Given the description of an element on the screen output the (x, y) to click on. 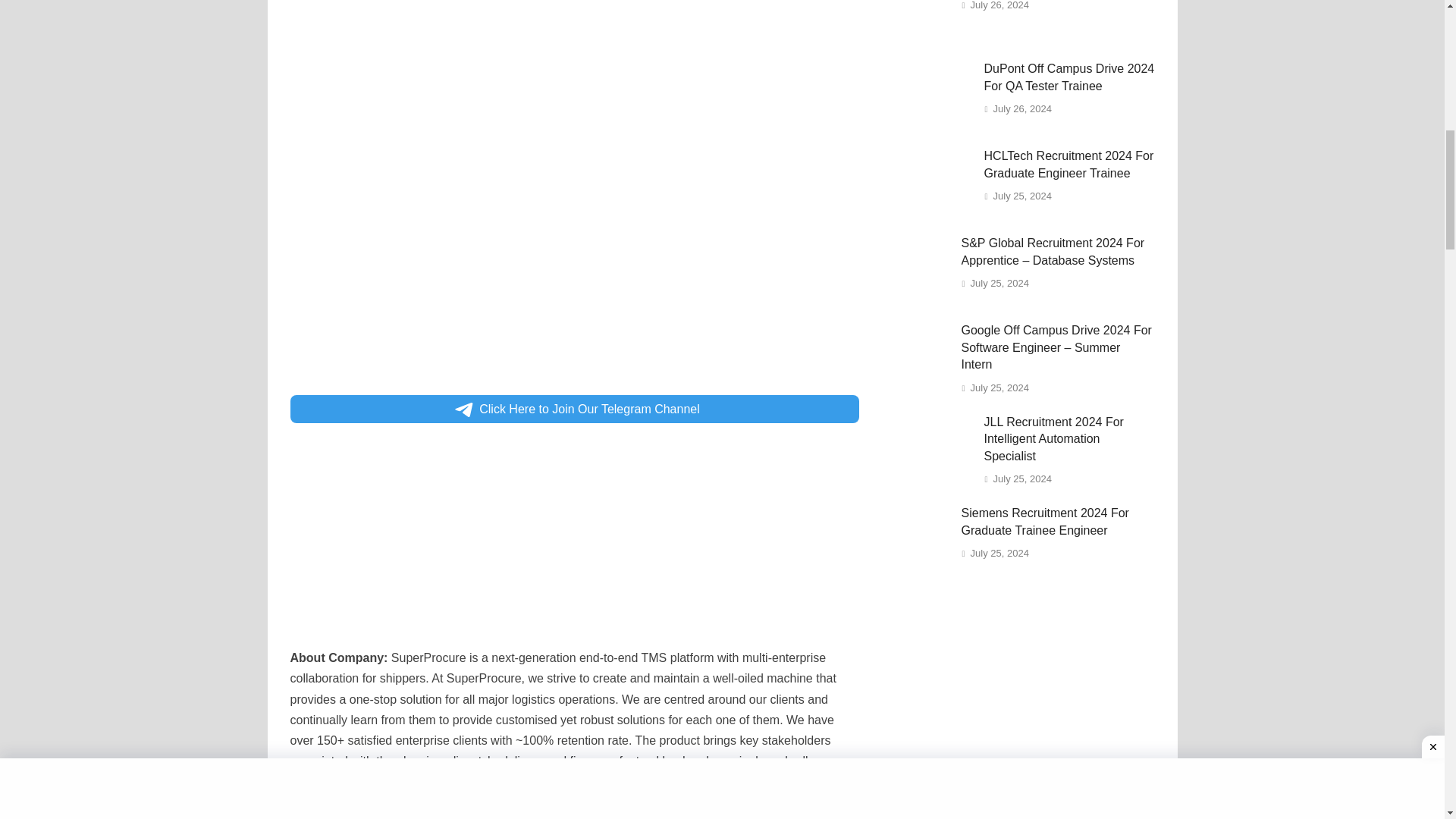
Siemens Recruitment 2024 For Graduate Trainee Engineer (916, 568)
Click Here to Join Our Telegram Channel (574, 408)
HCLTech Recruitment 2024 For Graduate Engineer Trainee (927, 158)
DuPont Off Campus Drive 2024 For QA Tester Trainee (927, 71)
JLL Recruitment 2024 For Intelligent Automation Specialist (927, 424)
